Given the description of an element on the screen output the (x, y) to click on. 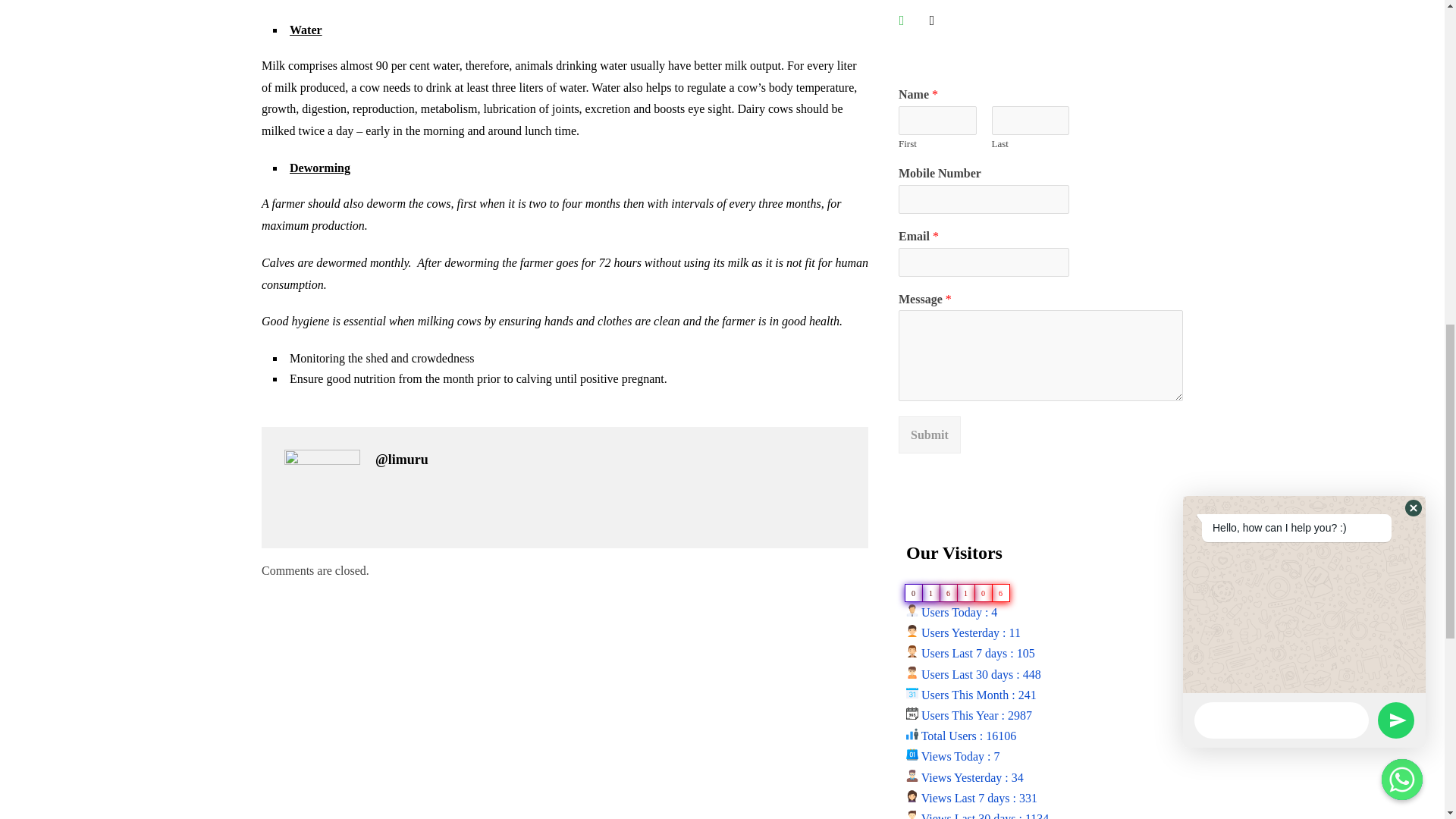
Friend me on Facebook (901, 19)
Default Label (931, 19)
